Given the description of an element on the screen output the (x, y) to click on. 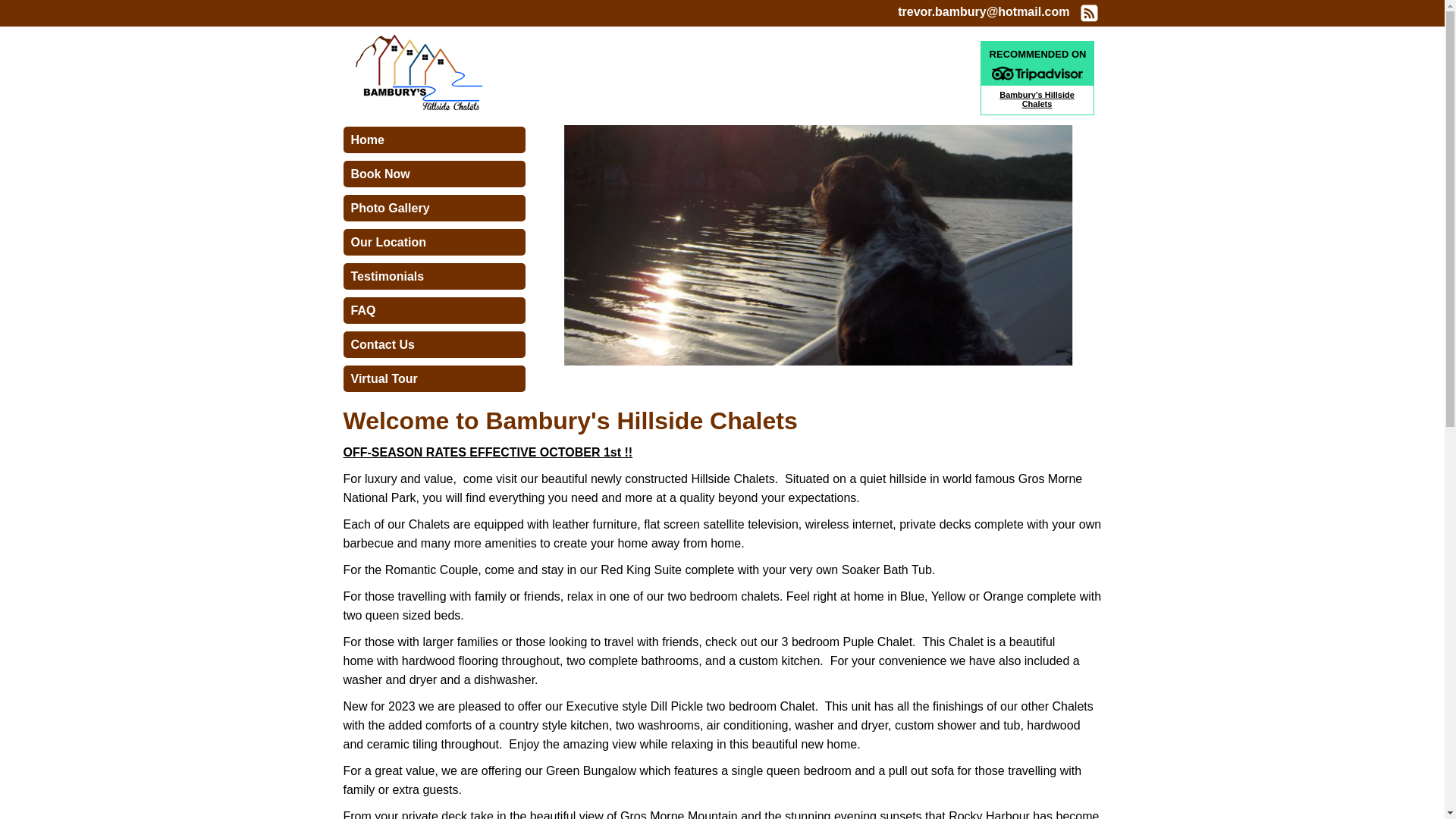
trevor.bambury@hotmail.com Element type: text (983, 11)
FAQ Element type: text (433, 309)
Book Now Element type: text (433, 173)
Photo Gallery Element type: text (433, 208)
Virtual Tour Element type: text (433, 378)
Contact Us Element type: text (433, 344)
Testimonials Element type: text (433, 276)
Home Element type: text (433, 140)
Our Location Element type: text (433, 241)
